Given the description of an element on the screen output the (x, y) to click on. 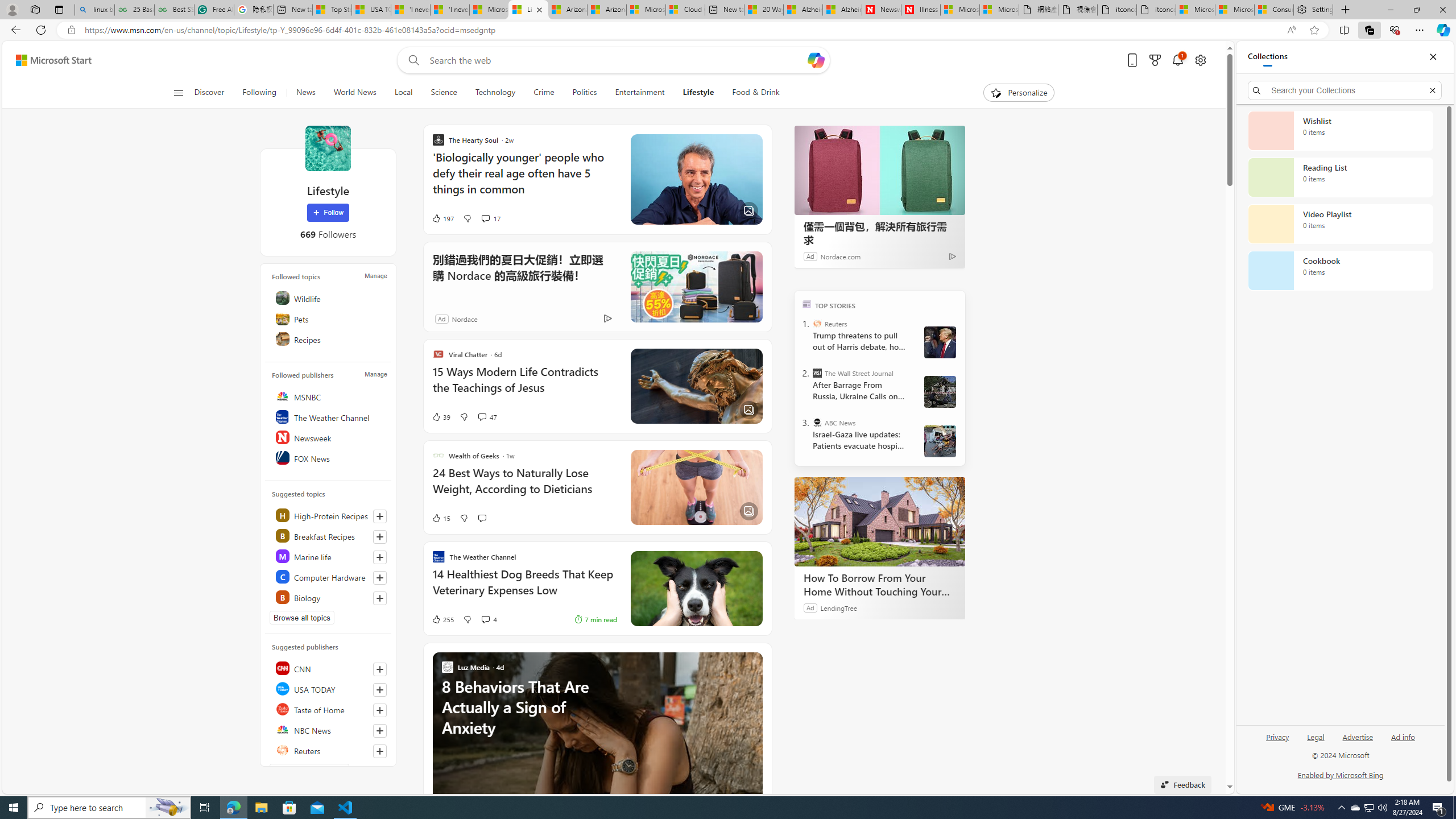
Follow this source (379, 751)
Workspaces (34, 9)
Crime (543, 92)
Advertise (1358, 741)
Nordace (464, 318)
Illness news & latest pictures from Newsweek.com (920, 9)
20 Ways to Boost Your Protein Intake at Every Meal (763, 9)
Dislike (466, 619)
Entertainment (639, 92)
Enter your search term (617, 59)
